Given the description of an element on the screen output the (x, y) to click on. 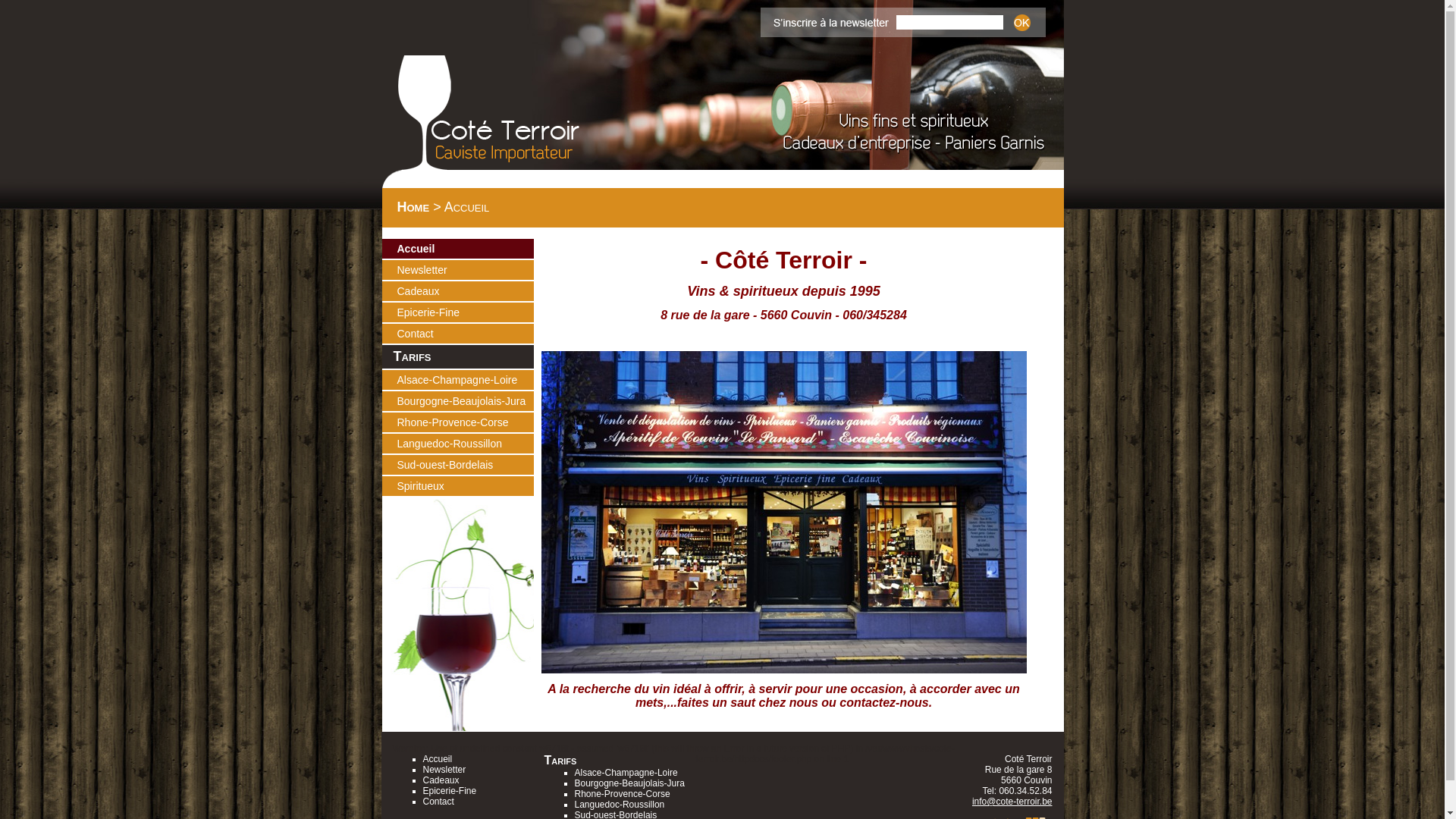
info@cote-terroir.be Element type: text (1012, 801)
Alsace-Champagne-Loire Element type: text (625, 772)
Cadeaux Element type: text (465, 291)
Newsletter Element type: text (465, 269)
Cadeaux Element type: text (441, 780)
Languedoc-Roussillon Element type: text (619, 804)
Bourgogne-Beaujolais-Jura Element type: text (629, 783)
Sud-ouest-Bordelais Element type: text (465, 464)
Accueil Element type: text (465, 248)
Accueil Element type: text (437, 758)
Bourgogne-Beaujolais-Jura Element type: text (465, 401)
Epicerie-Fine Element type: text (465, 312)
Rhone-Provence-Corse Element type: text (465, 422)
Contact Element type: text (438, 801)
Epicerie-Fine Element type: text (449, 790)
Alsace-Champagne-Loire Element type: text (465, 379)
Home Element type: text (413, 206)
Contact Element type: text (465, 333)
Rhone-Provence-Corse Element type: text (622, 793)
Newsletter Element type: text (444, 769)
Languedoc-Roussillon Element type: text (465, 443)
Spiritueux Element type: text (465, 486)
